Given the description of an element on the screen output the (x, y) to click on. 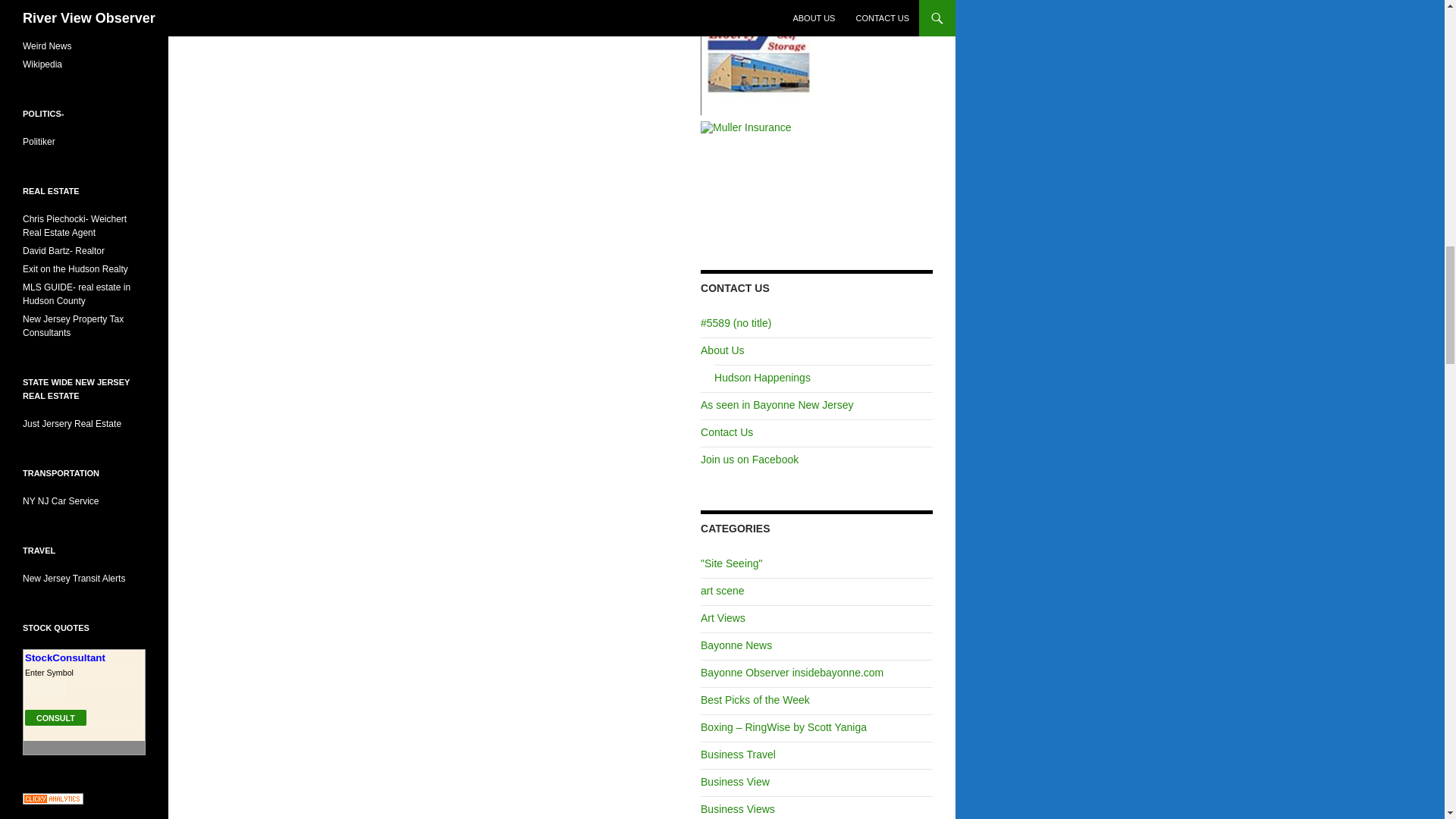
Muller Insurance (746, 127)
Liberty Self Storage Jersey City (756, 56)
Consult (54, 717)
